Given the description of an element on the screen output the (x, y) to click on. 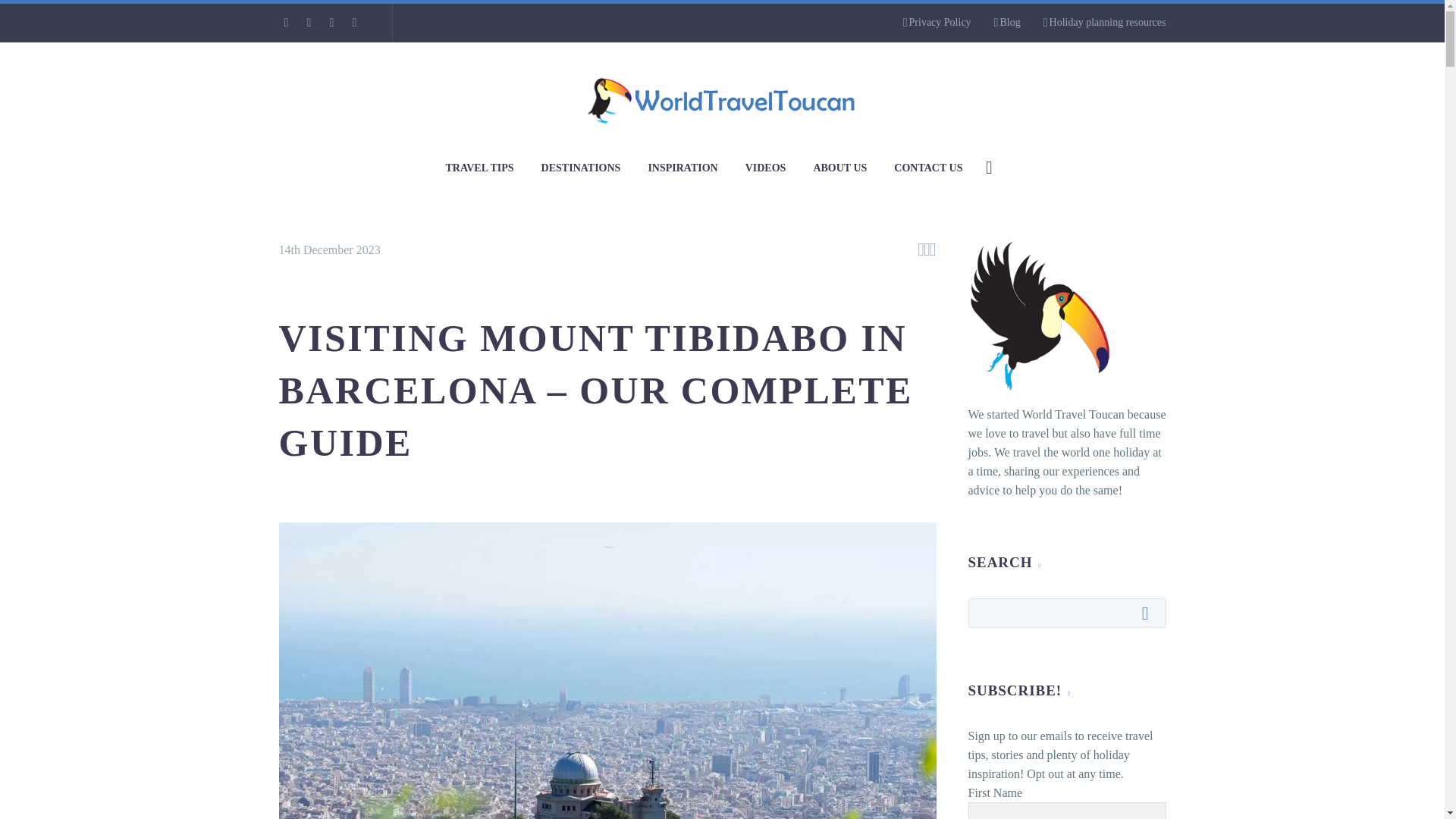
Privacy Policy (936, 22)
YouTube (353, 22)
s (1141, 248)
Blog (1007, 22)
INSPIRATION (682, 167)
CONTACT US (928, 167)
Facebook (286, 22)
Instagram (308, 22)
ABOUT US (839, 167)
TRAVEL TIPS (478, 167)
